Given the description of an element on the screen output the (x, y) to click on. 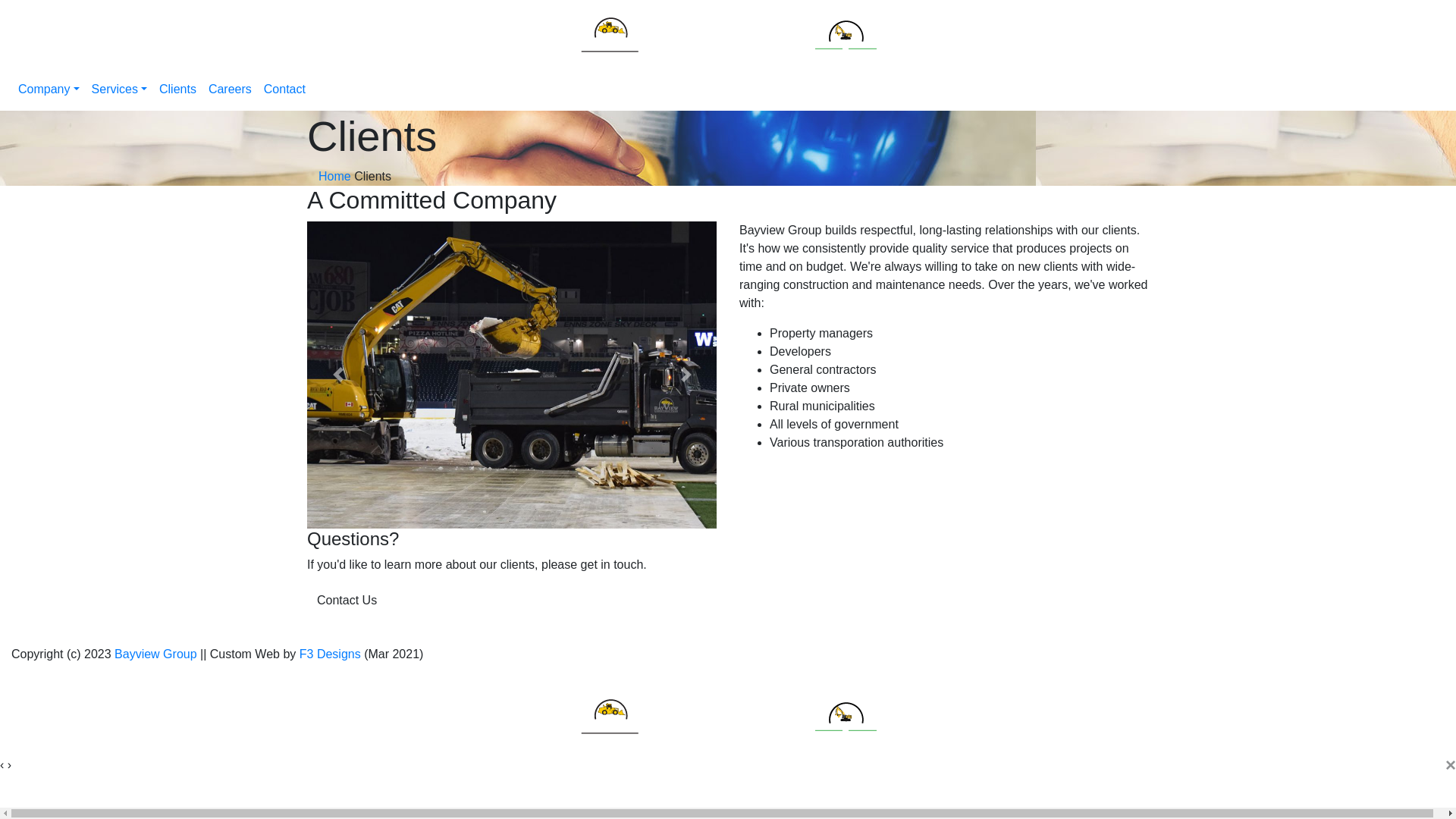
Company Element type: text (48, 89)
Services Element type: text (119, 89)
Careers Element type: text (229, 89)
Bayview Group Element type: text (155, 653)
Contact Element type: text (284, 89)
Clients Element type: text (177, 89)
F3 Designs Element type: text (329, 653)
  Next Element type: text (685, 374)
Contact Us Element type: text (346, 600)
  Previous Element type: text (337, 374)
Home Element type: text (334, 175)
